Given the description of an element on the screen output the (x, y) to click on. 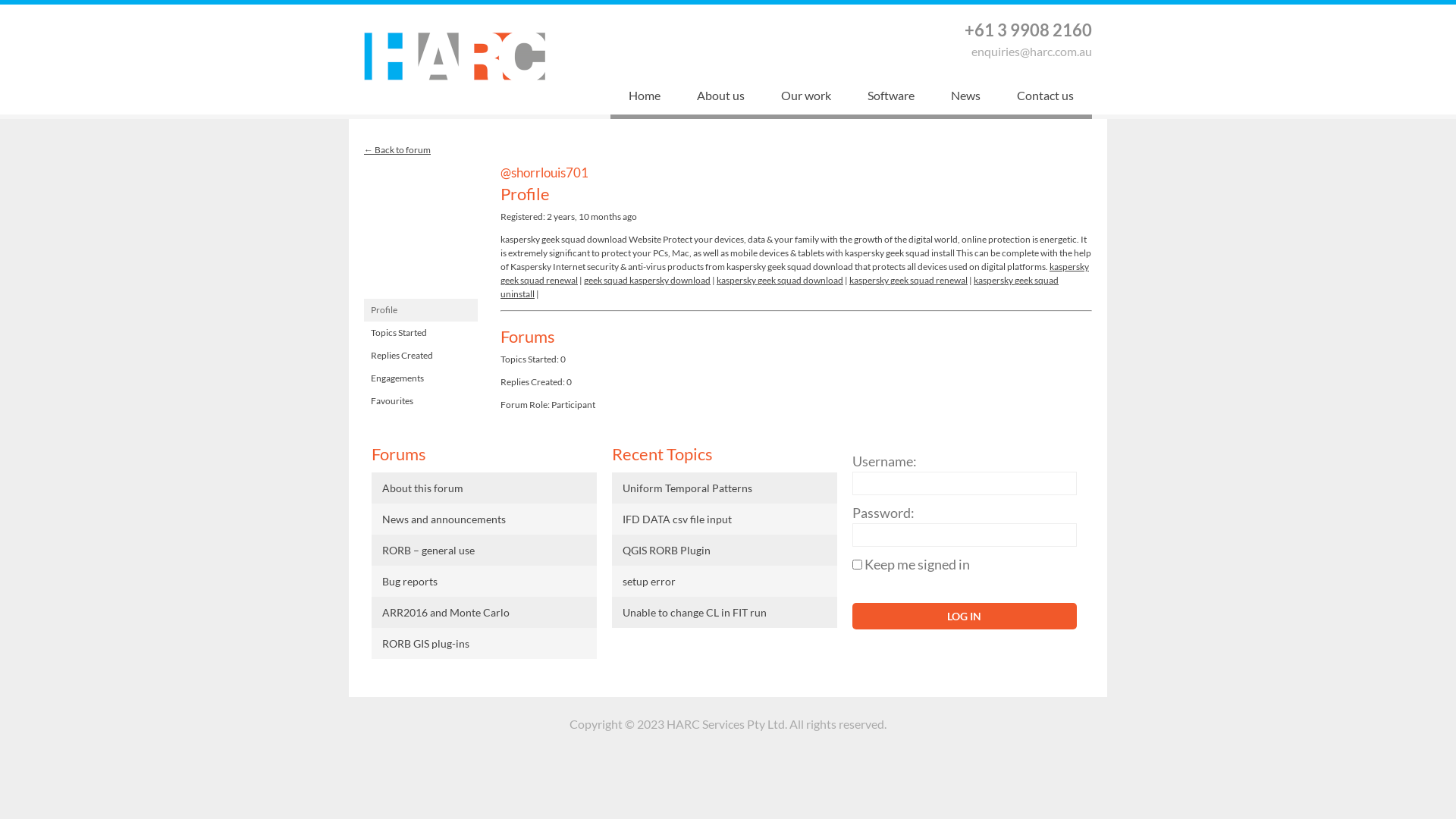
Uniform Temporal Patterns Element type: text (724, 487)
kaspersky geek squad renewal Element type: text (794, 272)
Software Element type: text (890, 97)
Our work Element type: text (805, 97)
IFD DATA csv file input Element type: text (724, 518)
Replies Created Element type: text (420, 355)
kaspersky geek squad uninstall Element type: text (779, 286)
Unable to change CL in FIT run Element type: text (724, 611)
About us Element type: text (720, 97)
News and announcements Element type: text (483, 518)
kaspersky geek squad download Element type: text (779, 279)
kaspersky geek squad renewal Element type: text (908, 279)
News Element type: text (965, 97)
ARR2016 and Monte Carlo Element type: text (483, 611)
Profile Element type: text (420, 309)
Bug reports Element type: text (483, 580)
Home Element type: text (644, 97)
enquiries@harc.com.au Element type: text (1031, 50)
LOG IN Element type: text (964, 615)
Topics Started Element type: text (420, 332)
geek squad kaspersky download Element type: text (646, 279)
QGIS RORB Plugin Element type: text (724, 549)
shorrlouis701 Element type: hover (420, 291)
RORB GIS plug-ins Element type: text (483, 642)
About this forum Element type: text (483, 487)
Favourites Element type: text (420, 400)
setup error Element type: text (724, 580)
Engagements Element type: text (420, 378)
Contact us Element type: text (1045, 97)
